Given the description of an element on the screen output the (x, y) to click on. 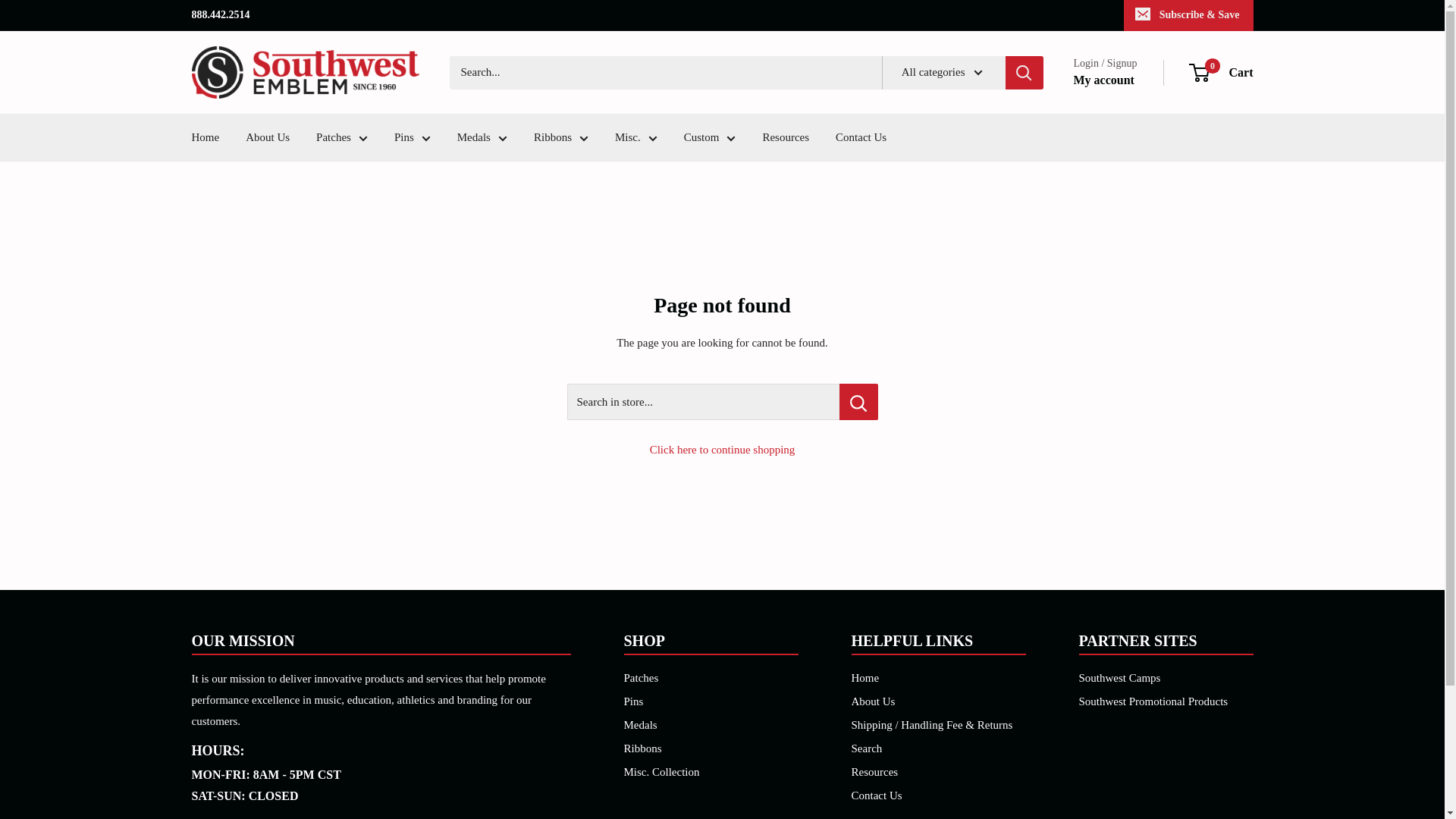
888.442.2514 (219, 15)
